Given the description of an element on the screen output the (x, y) to click on. 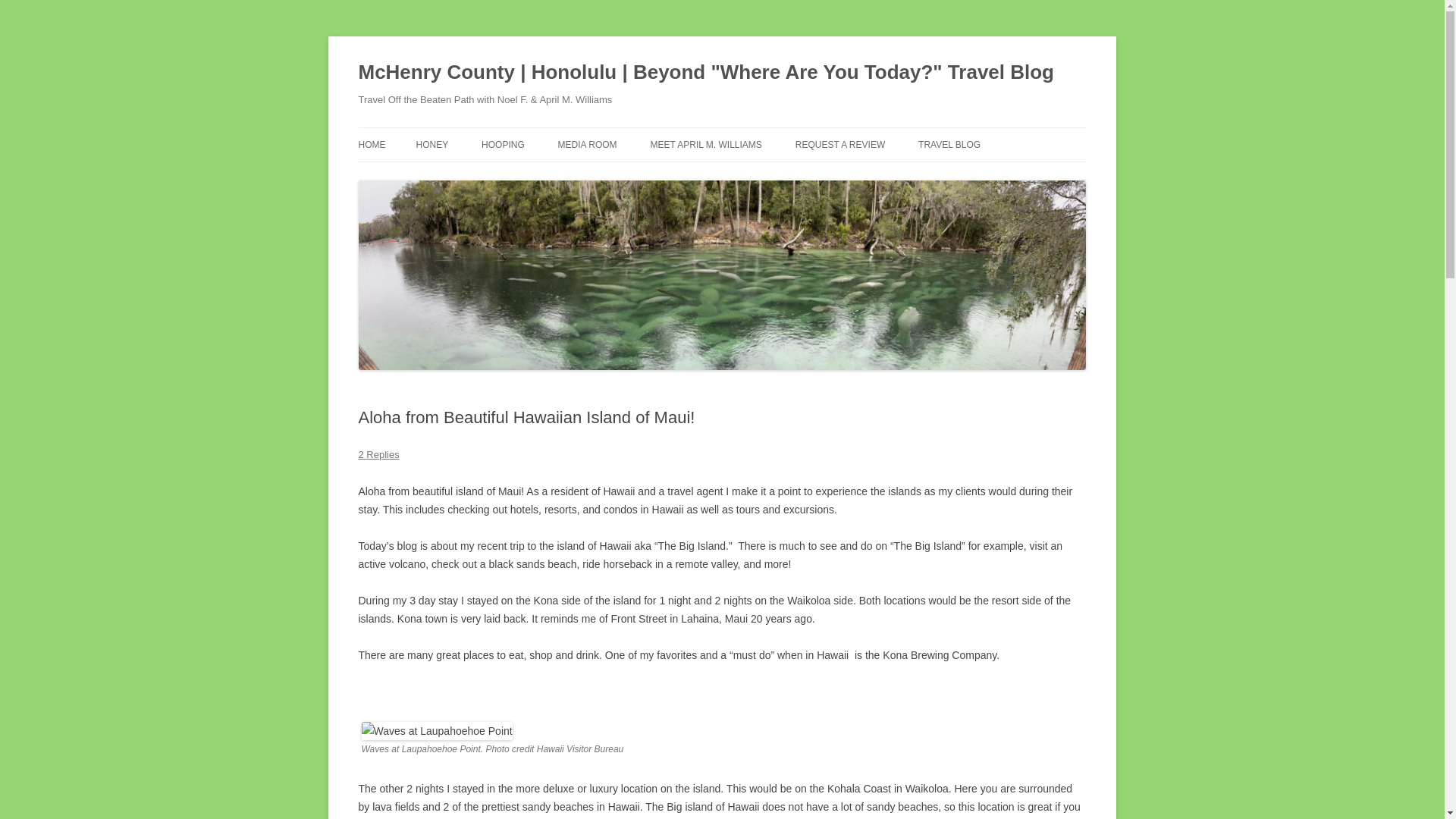
HONEY (431, 144)
REQUEST A REVIEW (839, 144)
MEET APRIL M. WILLIAMS (705, 144)
TRAVEL BLOG (948, 144)
ADVERTISE (870, 176)
2 Replies (378, 454)
MEDIA ROOM (587, 144)
HOOPING (502, 144)
NEWS (633, 176)
Waves at Laupahoehoe Point (436, 730)
